Given the description of an element on the screen output the (x, y) to click on. 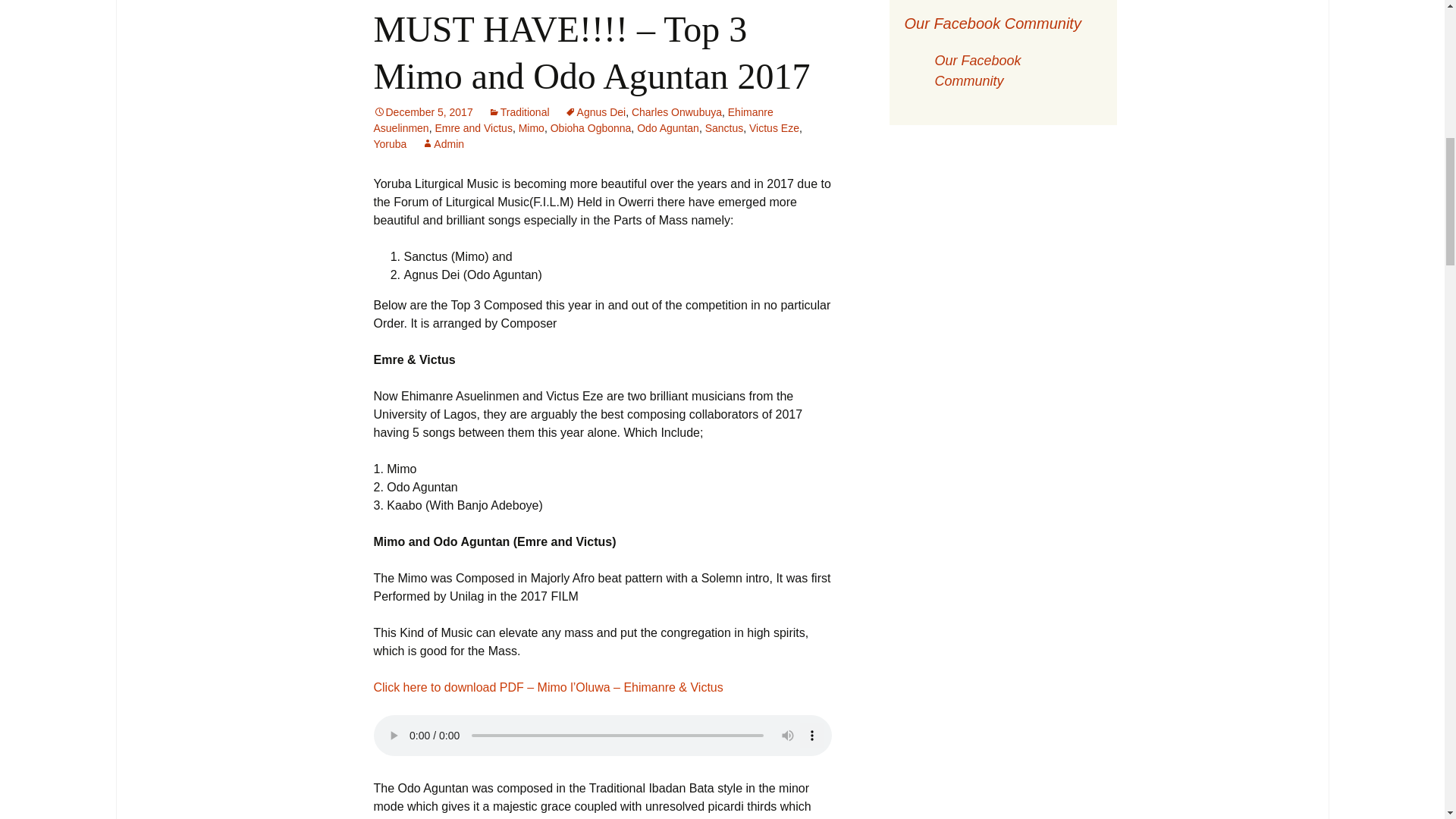
Obioha Ogbonna (590, 128)
Yoruba (389, 143)
Sanctus (724, 128)
Agnus Dei (595, 111)
Mimo (531, 128)
Victus Eze (774, 128)
Traditional (518, 111)
View all posts by Admin (443, 143)
Emre and Victus (472, 128)
Admin (443, 143)
